Given the description of an element on the screen output the (x, y) to click on. 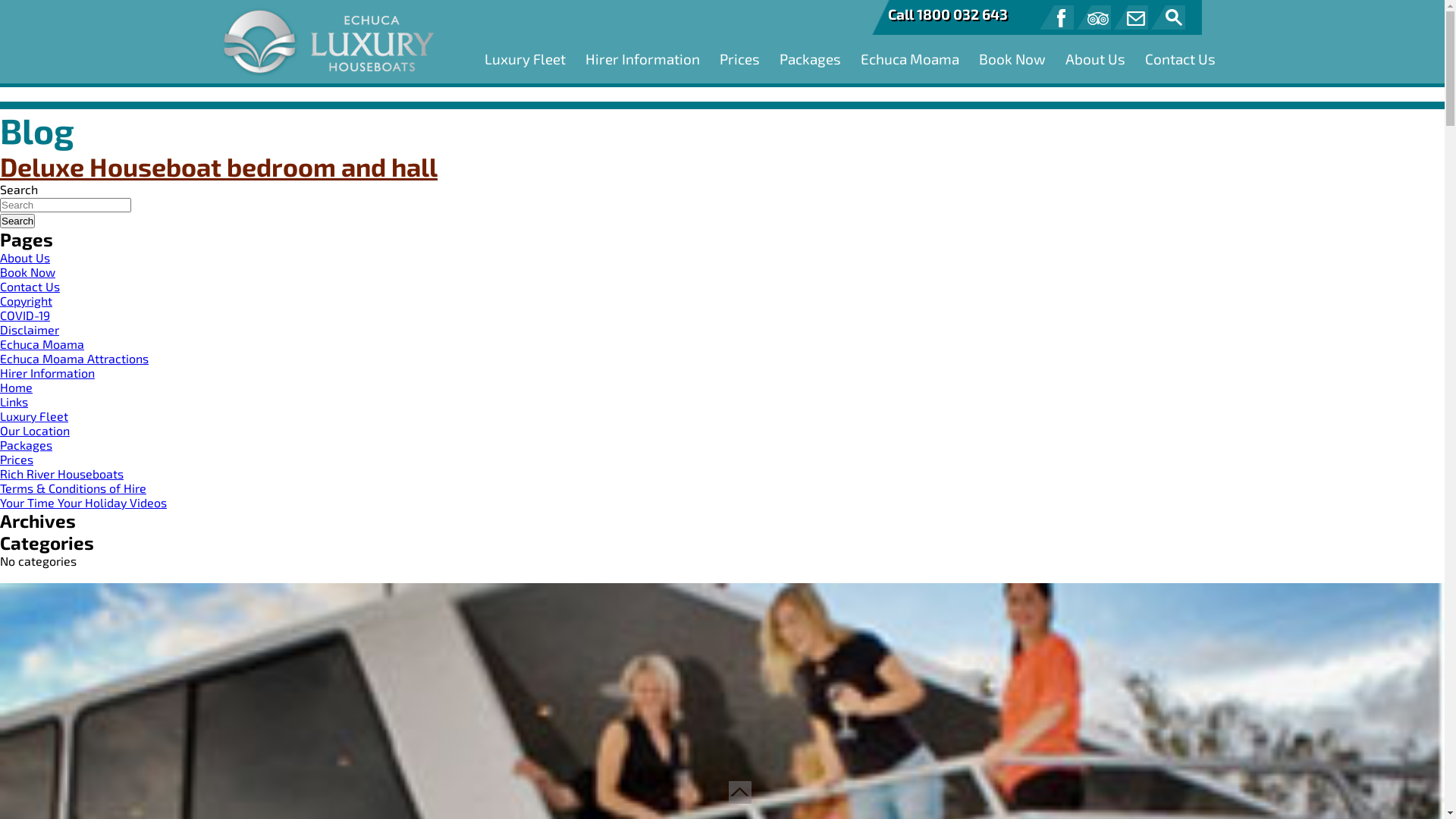
Terms & Conditions of Hire Element type: text (73, 487)
Echuca Moama Element type: text (42, 343)
Book Now Element type: text (27, 271)
Home Element type: text (16, 386)
Search Element type: text (17, 220)
Deluxe Houseboat bedroom and hall Element type: text (218, 166)
Packages Element type: text (26, 444)
About Us Element type: text (25, 257)
Packages Element type: text (806, 58)
Call 1800 032 643 Element type: text (947, 13)
Hirer Information Element type: text (638, 58)
Prices Element type: text (16, 458)
Our Location Element type: text (34, 430)
Your Time Your Holiday Videos Element type: text (83, 502)
Contact Us Element type: text (1176, 58)
Hirer Information Element type: text (47, 372)
Luxury Fleet Element type: text (520, 58)
COVID-19 Element type: text (25, 314)
Links Element type: text (14, 401)
Copyright Element type: text (26, 300)
Prices Element type: text (735, 58)
Echuca Moama Attractions Element type: text (74, 358)
Disclaimer Element type: text (29, 329)
Luxury Fleet Element type: text (34, 415)
Echuca Moama Element type: text (905, 58)
Contact Us Element type: text (29, 286)
Book Now Element type: text (1007, 58)
About Us Element type: text (1090, 58)
Rich River Houseboats Element type: text (61, 473)
